Given the description of an element on the screen output the (x, y) to click on. 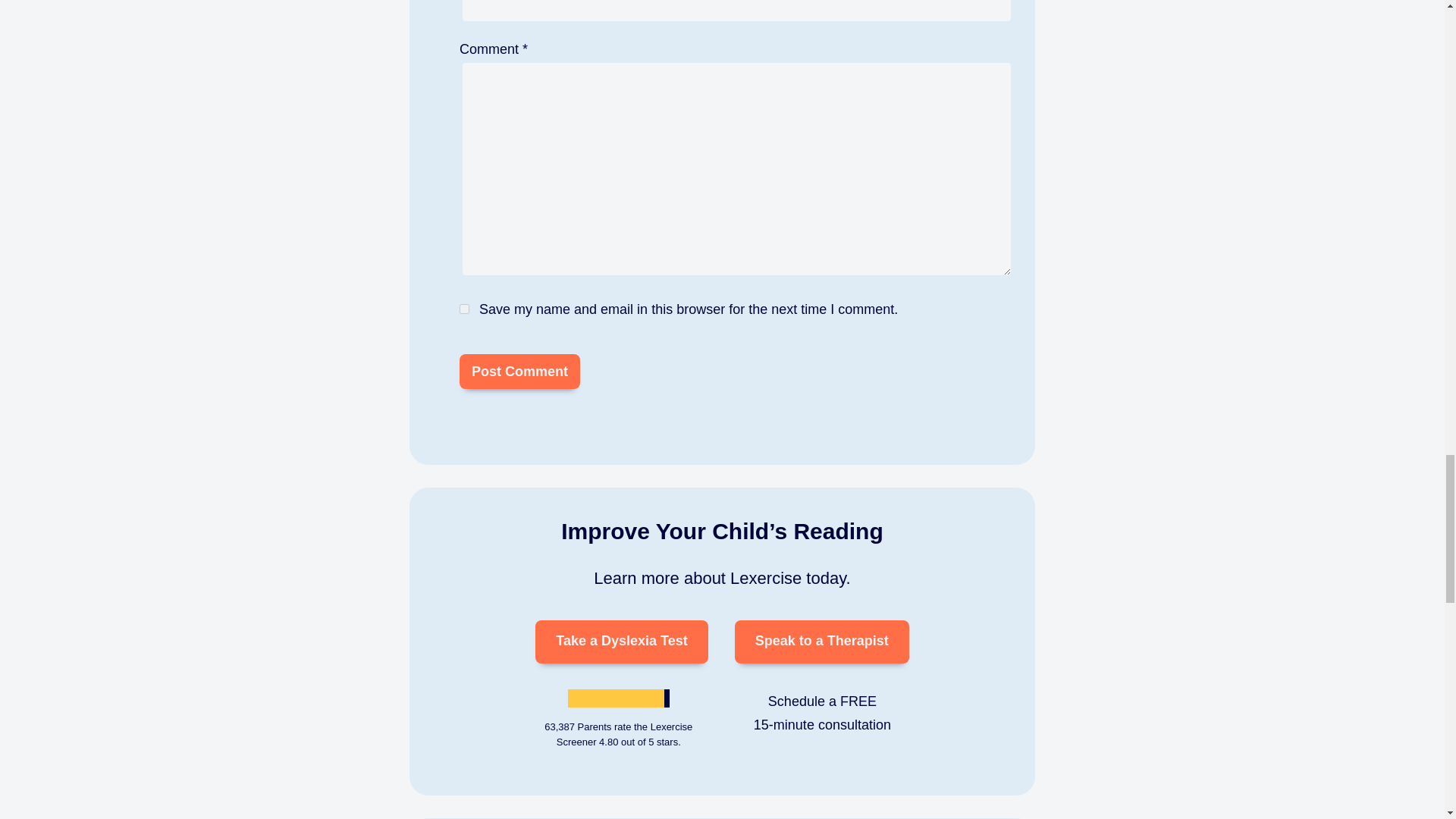
Post Comment (519, 370)
yes (464, 307)
